Given the description of an element on the screen output the (x, y) to click on. 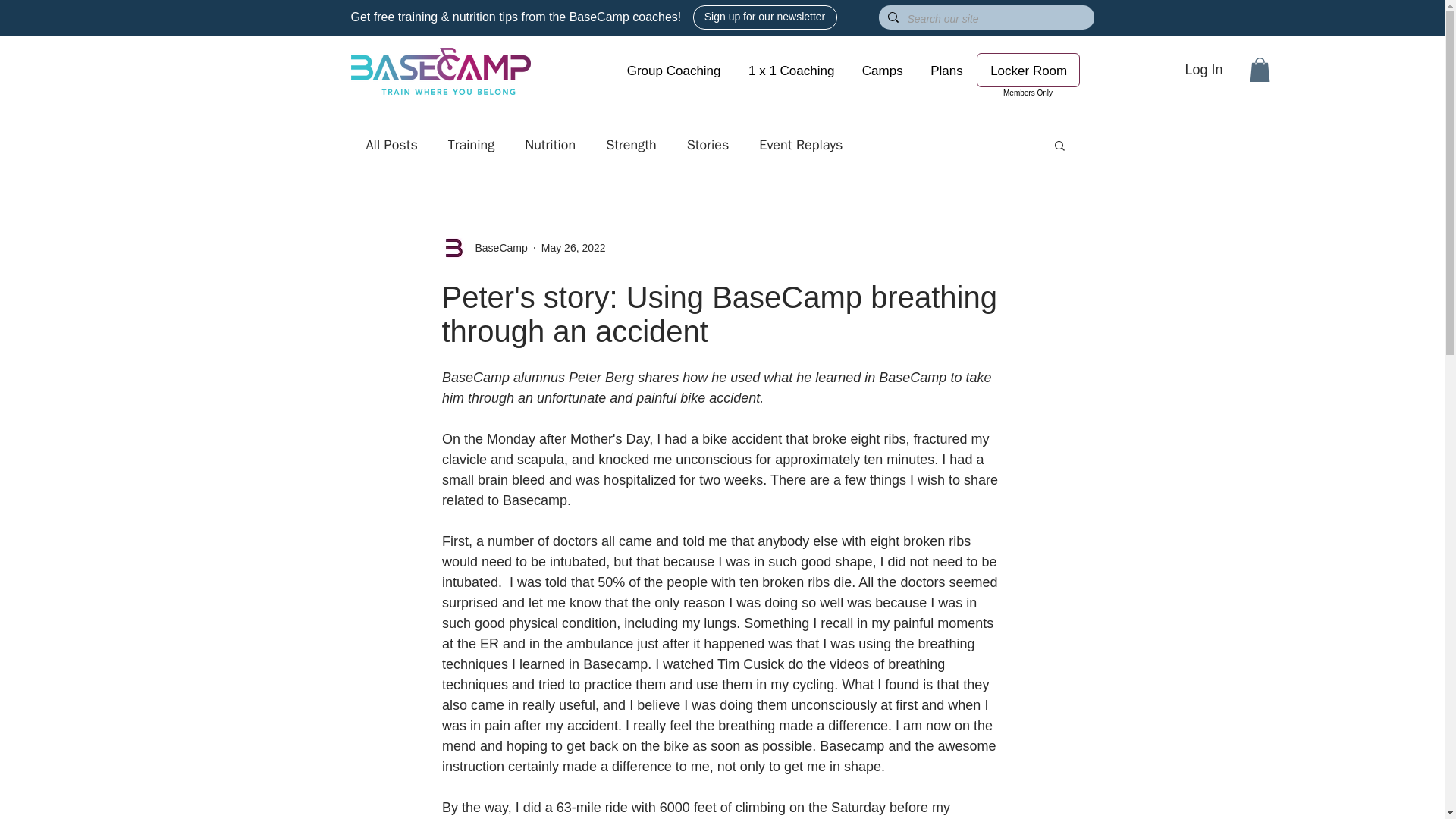
Sign up for our newsletter (765, 16)
Log In (1203, 69)
Stories (708, 144)
All Posts (390, 144)
Nutrition (549, 144)
Event Replays (800, 144)
Group Coaching (672, 71)
1 x 1 Coaching (791, 71)
Plans (947, 71)
Training (471, 144)
Strength (630, 144)
BaseCamp (496, 248)
May 26, 2022 (573, 247)
